Given the description of an element on the screen output the (x, y) to click on. 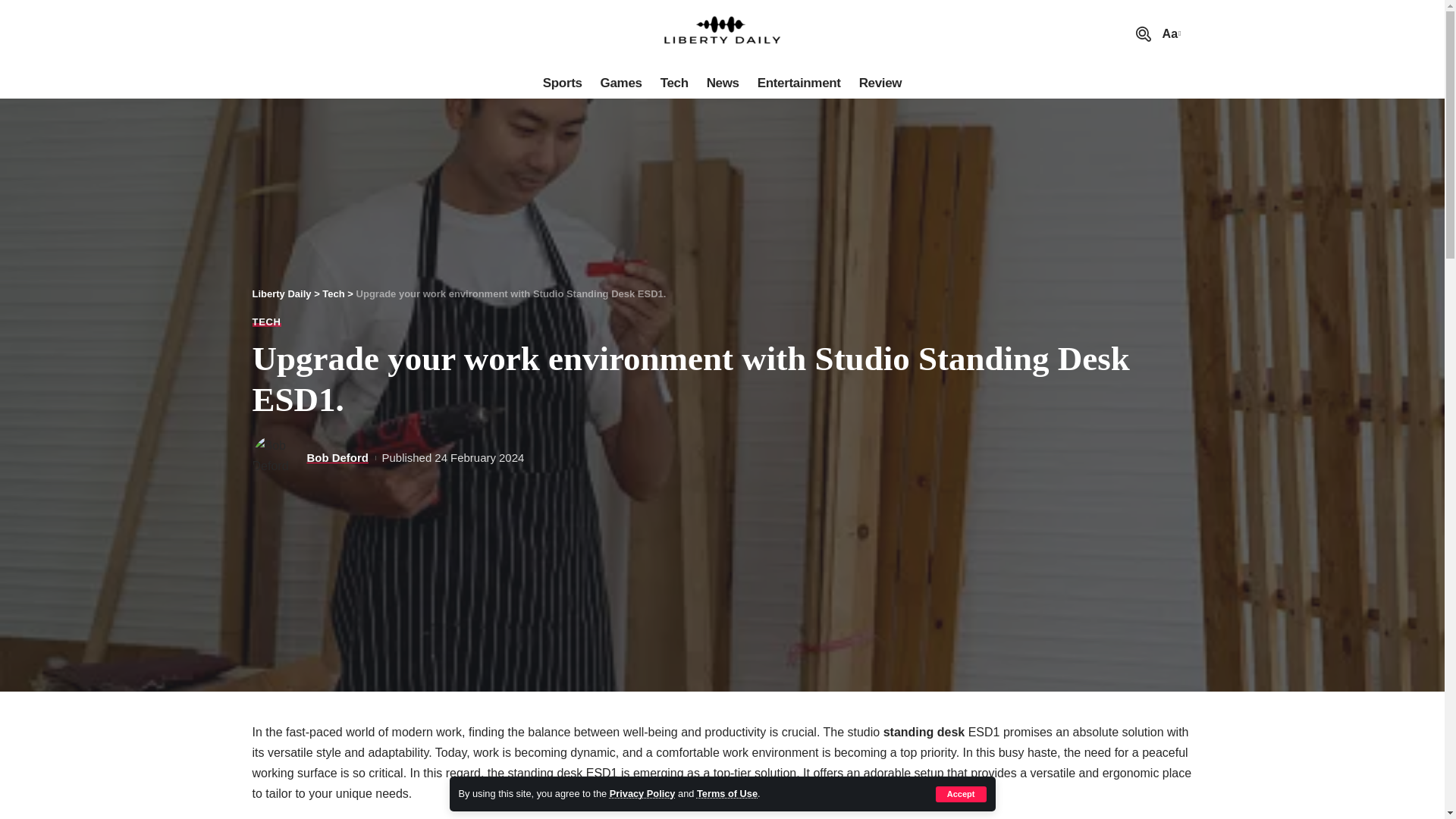
Accept (961, 794)
Terms of Use (727, 793)
Tech (673, 82)
Go to the Tech Category archives. (332, 293)
Games (620, 82)
News (722, 82)
Go to Liberty Daily. (281, 293)
TECH (266, 321)
Liberty Daily (281, 293)
Aa (1169, 33)
Review (880, 82)
Bob Deford (336, 456)
Entertainment (799, 82)
Privacy Policy (642, 793)
Tech (332, 293)
